Given the description of an element on the screen output the (x, y) to click on. 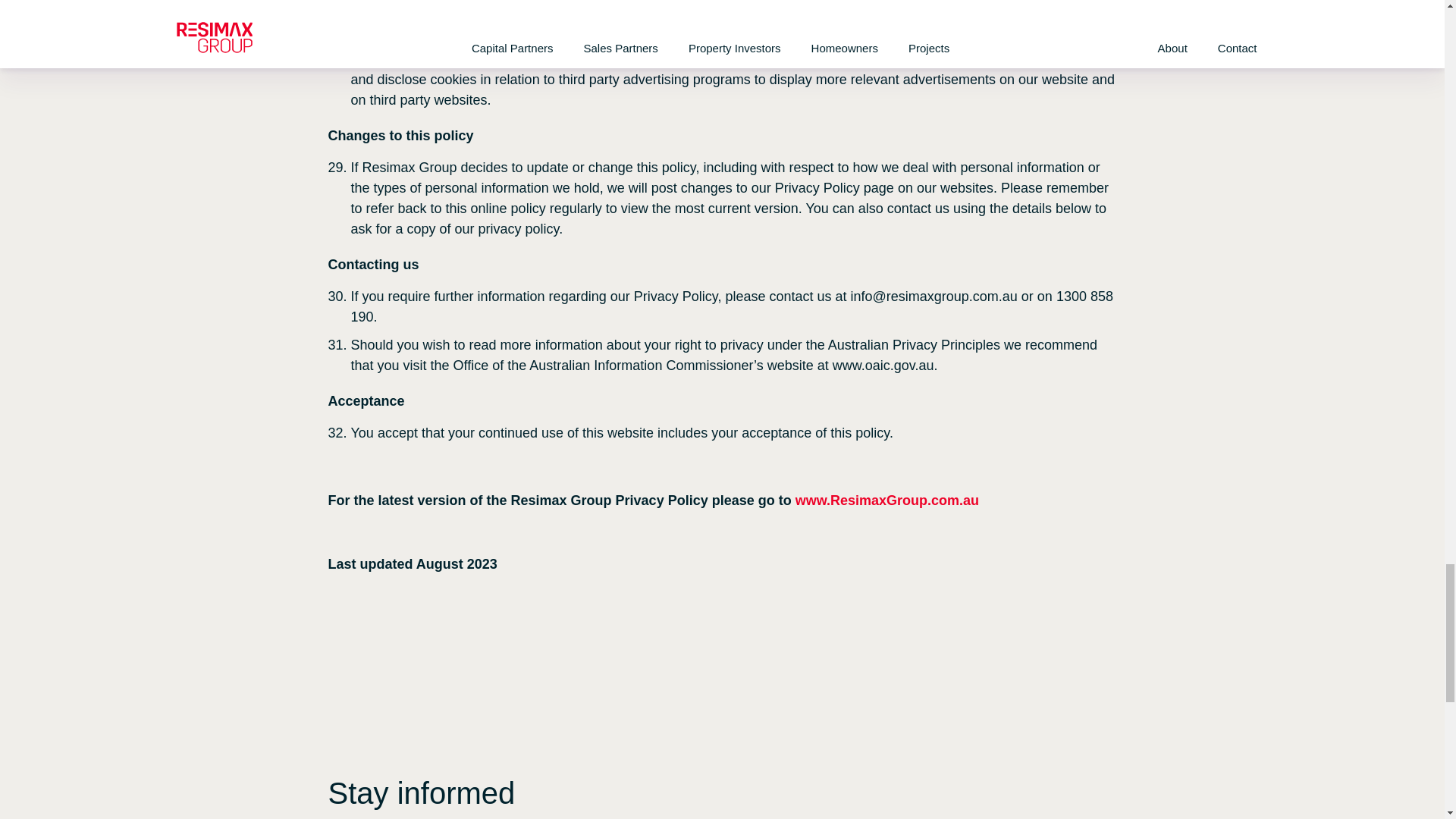
www.ResimaxGroup.com.au  (888, 500)
